Given the description of an element on the screen output the (x, y) to click on. 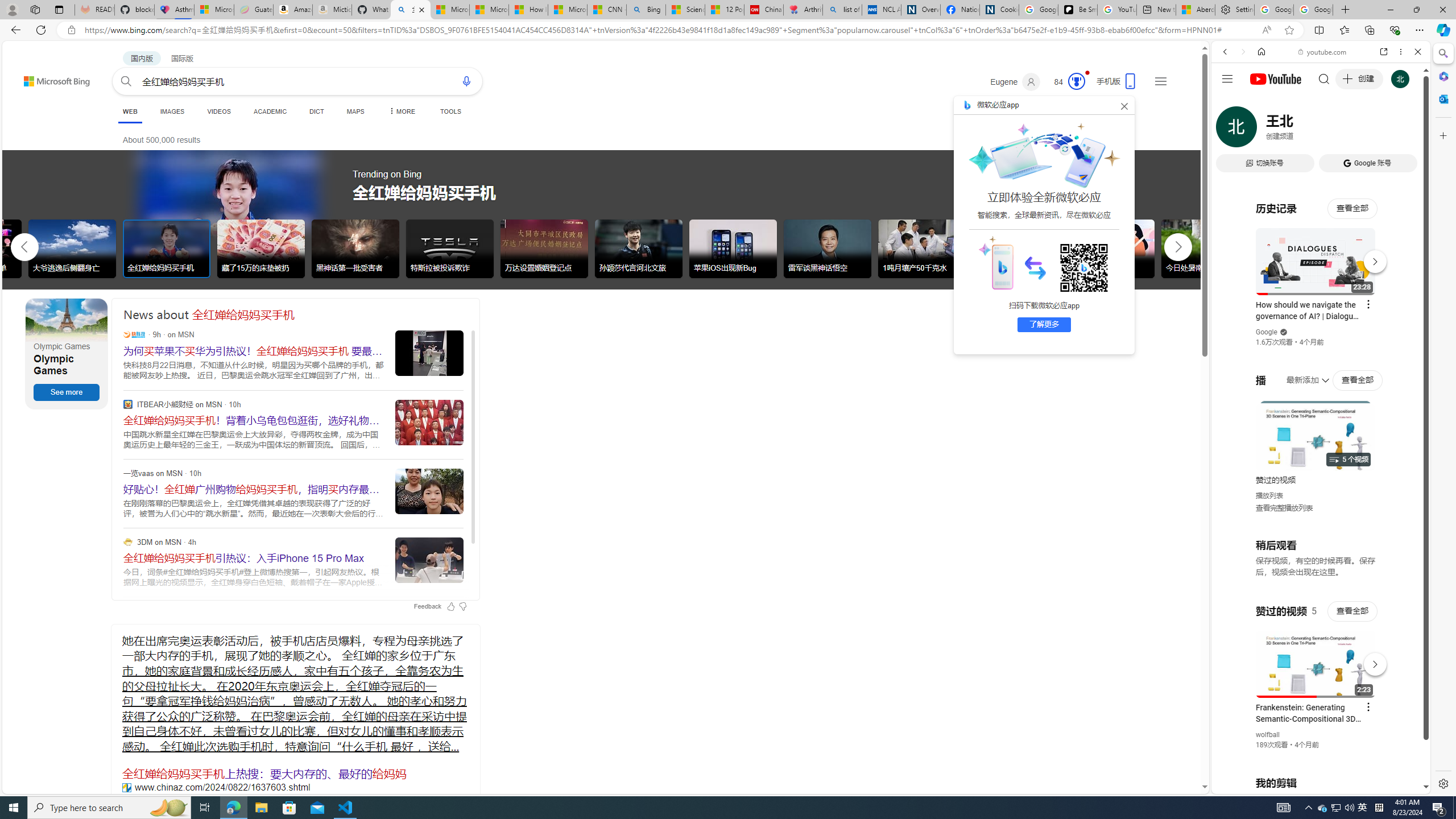
Arthritis: Ask Health Professionals (802, 9)
WEB   (1230, 130)
Close Customize pane (1442, 135)
Search (1442, 53)
Class: b_serphb (1404, 130)
Collections (1369, 29)
